Given the description of an element on the screen output the (x, y) to click on. 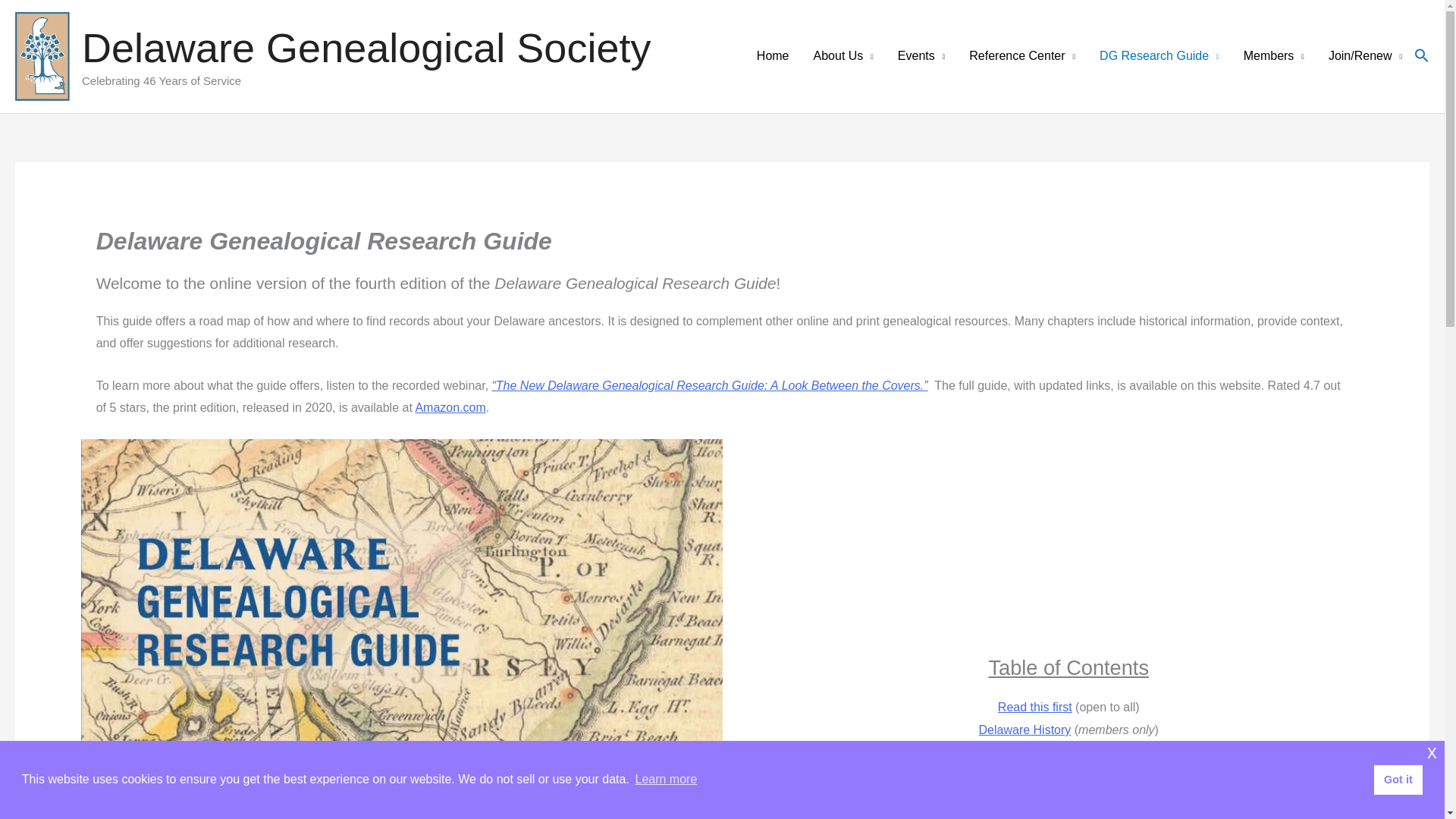
Delaware Genealogical Society (365, 47)
Reference Center (1021, 56)
